Given the description of an element on the screen output the (x, y) to click on. 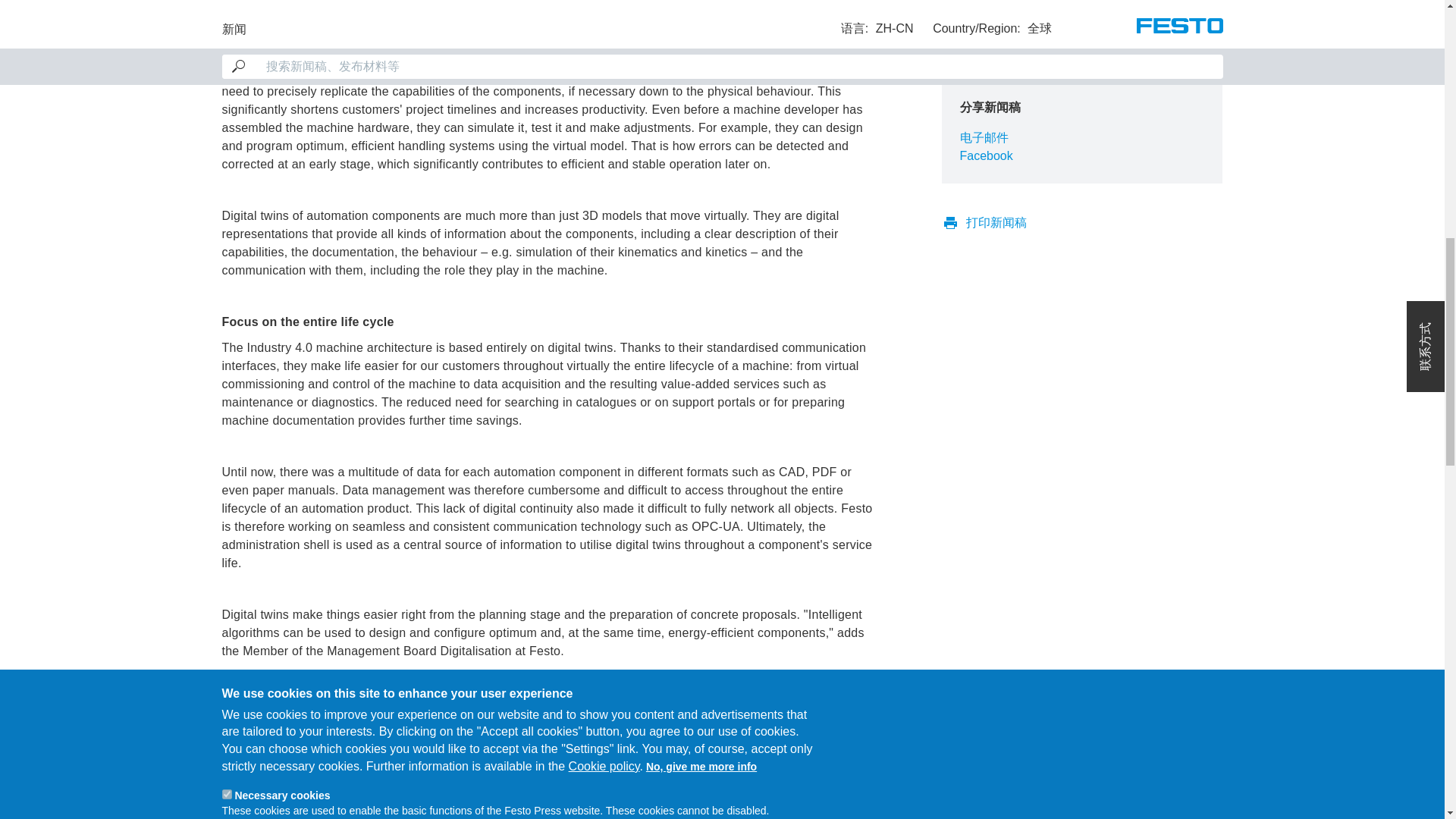
performance (226, 40)
functional (226, 8)
behavioral (226, 72)
